Given the description of an element on the screen output the (x, y) to click on. 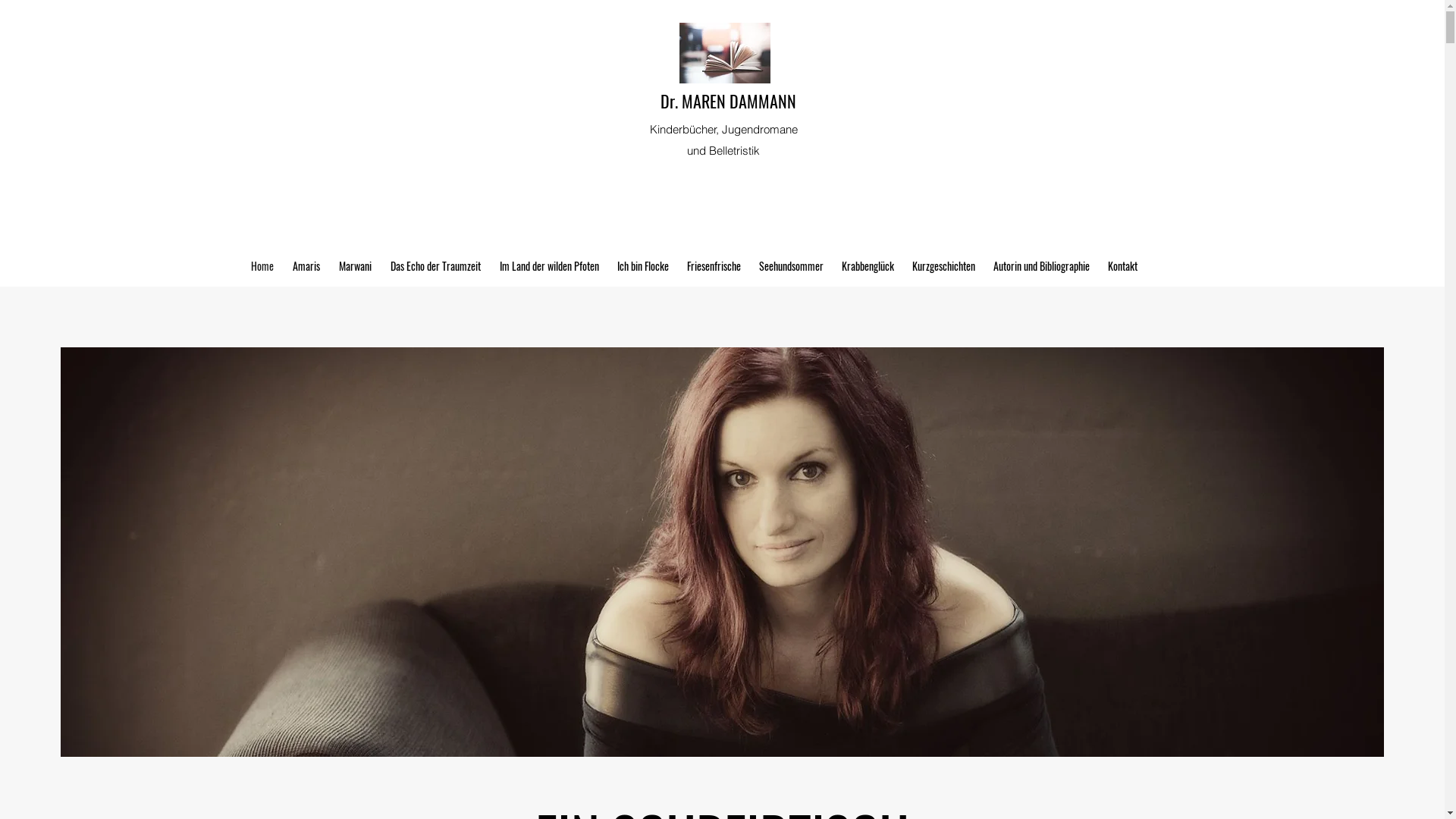
Kontakt Element type: text (1121, 265)
Kurzgeschichten Element type: text (942, 265)
Autorin und Bibliographie Element type: text (1041, 265)
Home Element type: text (261, 265)
Ich bin Flocke Element type: text (642, 265)
Seehundsommer Element type: text (790, 265)
Friesenfrische Element type: text (713, 265)
Im Land der wilden Pfoten Element type: text (548, 265)
Das Echo der Traumzeit Element type: text (434, 265)
Amaris Element type: text (306, 265)
Marwani Element type: text (354, 265)
